Given the description of an element on the screen output the (x, y) to click on. 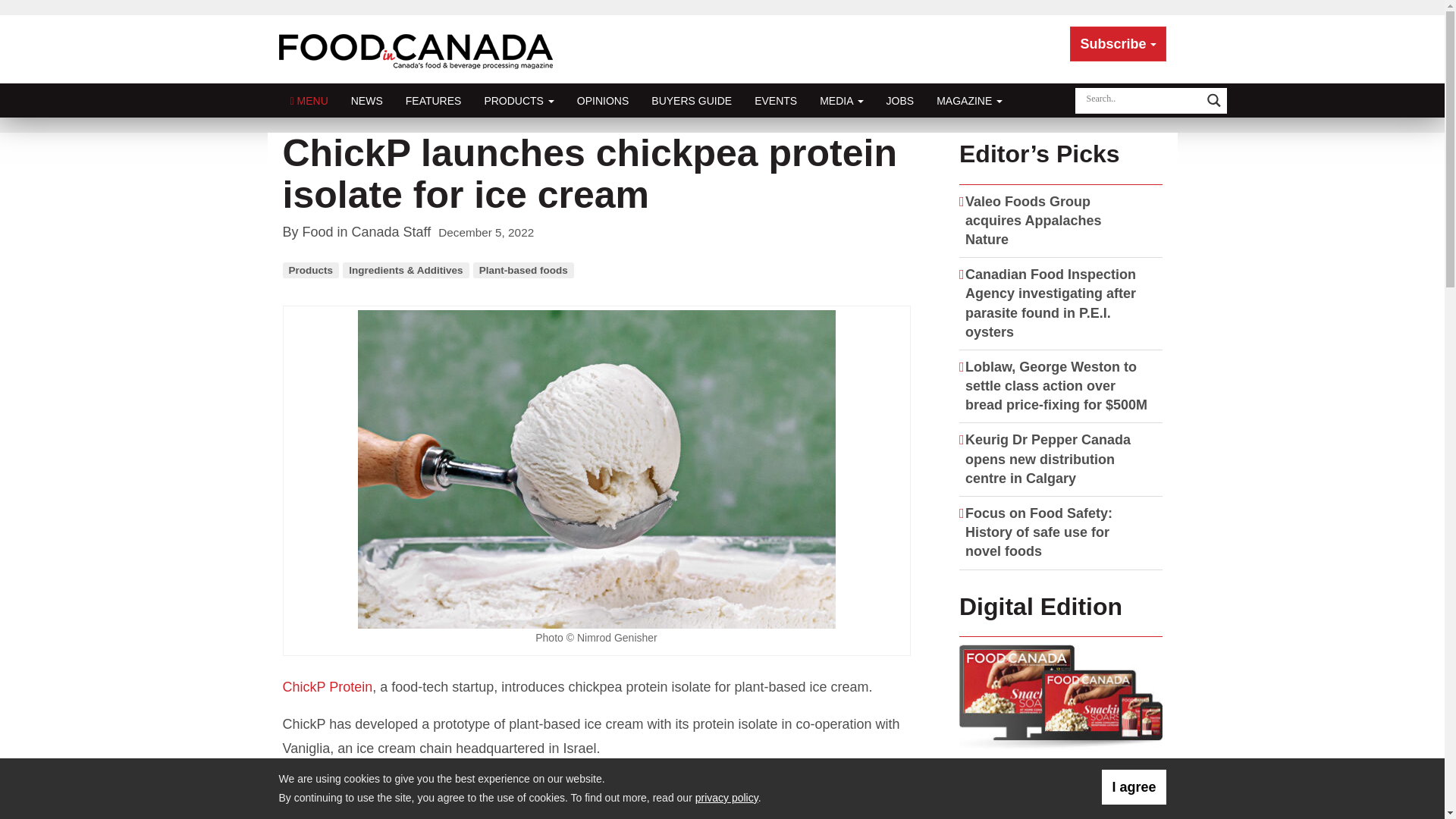
NEWS (366, 100)
OPINIONS (603, 100)
JOBS (900, 100)
Food In Canada (419, 48)
BUYERS GUIDE (691, 100)
Click to show site navigation (309, 100)
PRODUCTS (517, 100)
EVENTS (775, 100)
MEDIA (841, 100)
MAGAZINE (968, 100)
Subscribe (1118, 43)
FEATURES (433, 100)
MENU (309, 100)
